Given the description of an element on the screen output the (x, y) to click on. 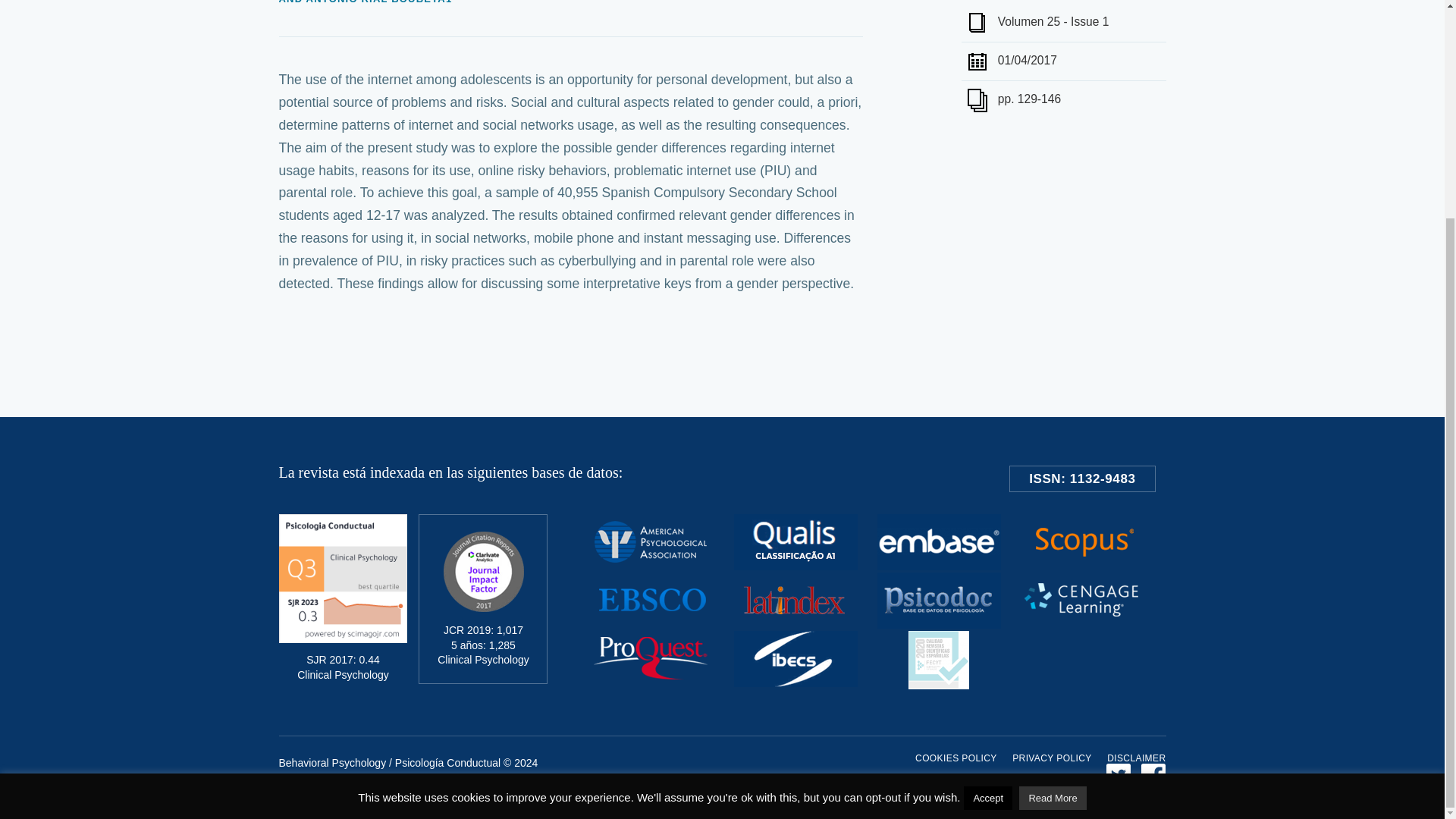
PRIVACY POLICY (1051, 757)
Apa (651, 565)
Psicodoc (939, 624)
Ibecs (795, 682)
Latindex (795, 624)
Read More (1052, 510)
Qualis (795, 565)
Embase (939, 565)
COOKIES POLICY (956, 757)
Accept (987, 510)
